Given the description of an element on the screen output the (x, y) to click on. 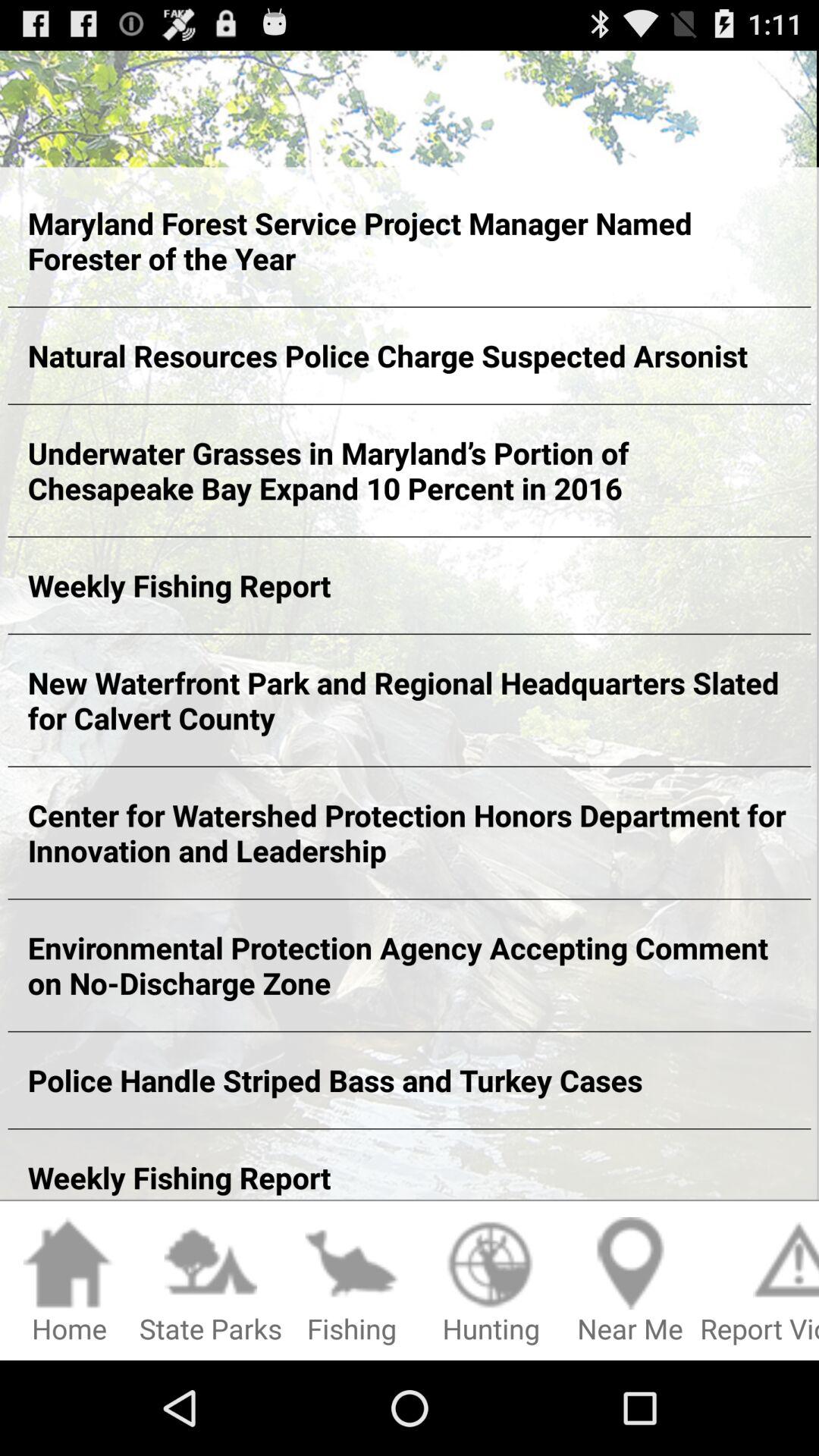
turn on the item next to report violation item (630, 1282)
